Given the description of an element on the screen output the (x, y) to click on. 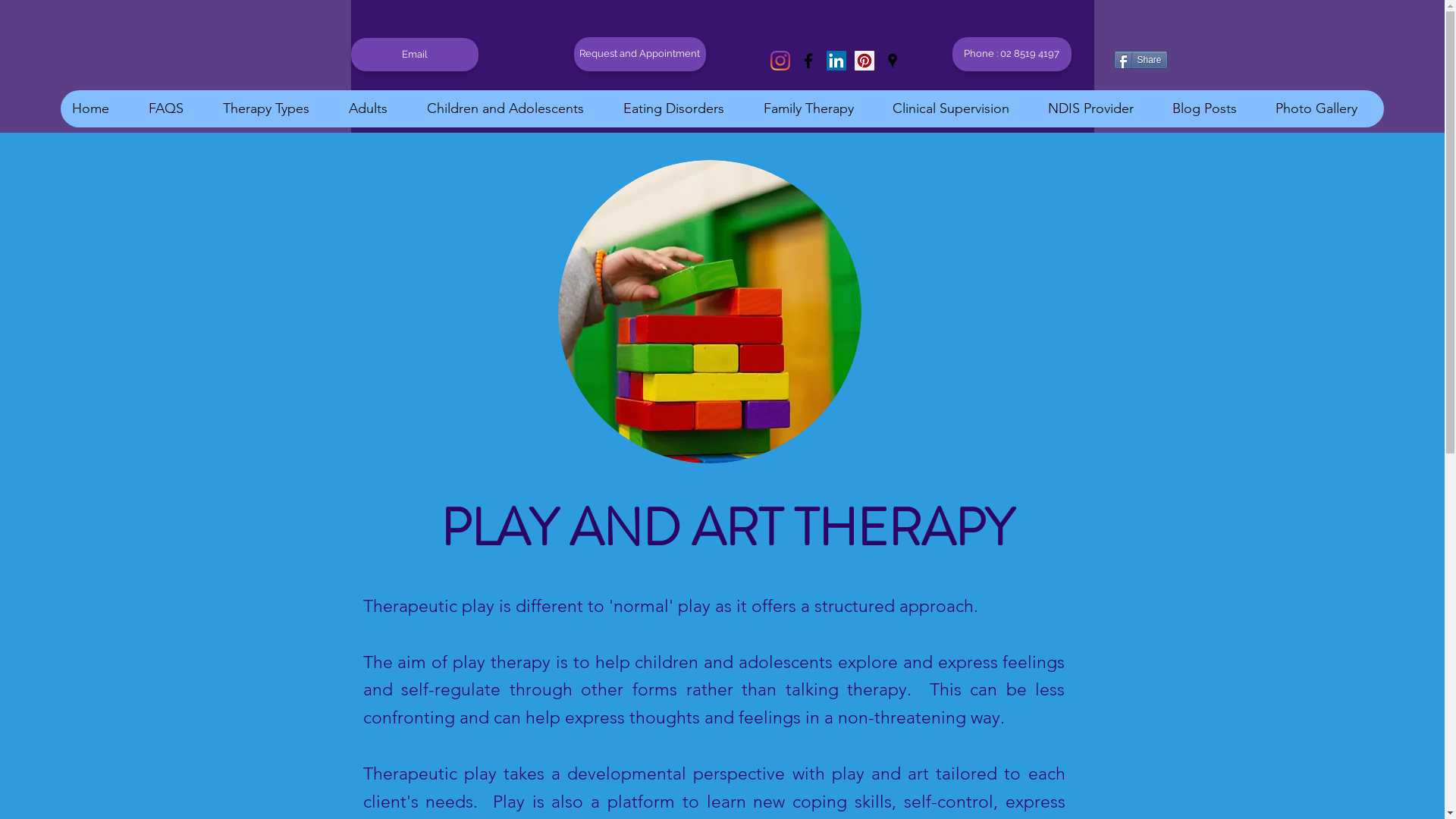
Request and Appointment Element type: text (639, 54)
Clinical Supervision Element type: text (957, 108)
NDIS Provider Element type: text (1097, 108)
Therapy Types Element type: text (273, 108)
Eating Disorders Element type: text (681, 108)
Email Element type: text (413, 54)
Photo Gallery Element type: text (1323, 108)
Adults Element type: text (375, 108)
Phone : 02 8519 4197 Element type: text (1011, 54)
FAQS Element type: text (173, 108)
Family Therapy Element type: text (815, 108)
Blog Posts Element type: text (1211, 108)
Share Element type: text (1140, 59)
Home Element type: text (98, 108)
Children and Adolescents Element type: text (512, 108)
